Given the description of an element on the screen output the (x, y) to click on. 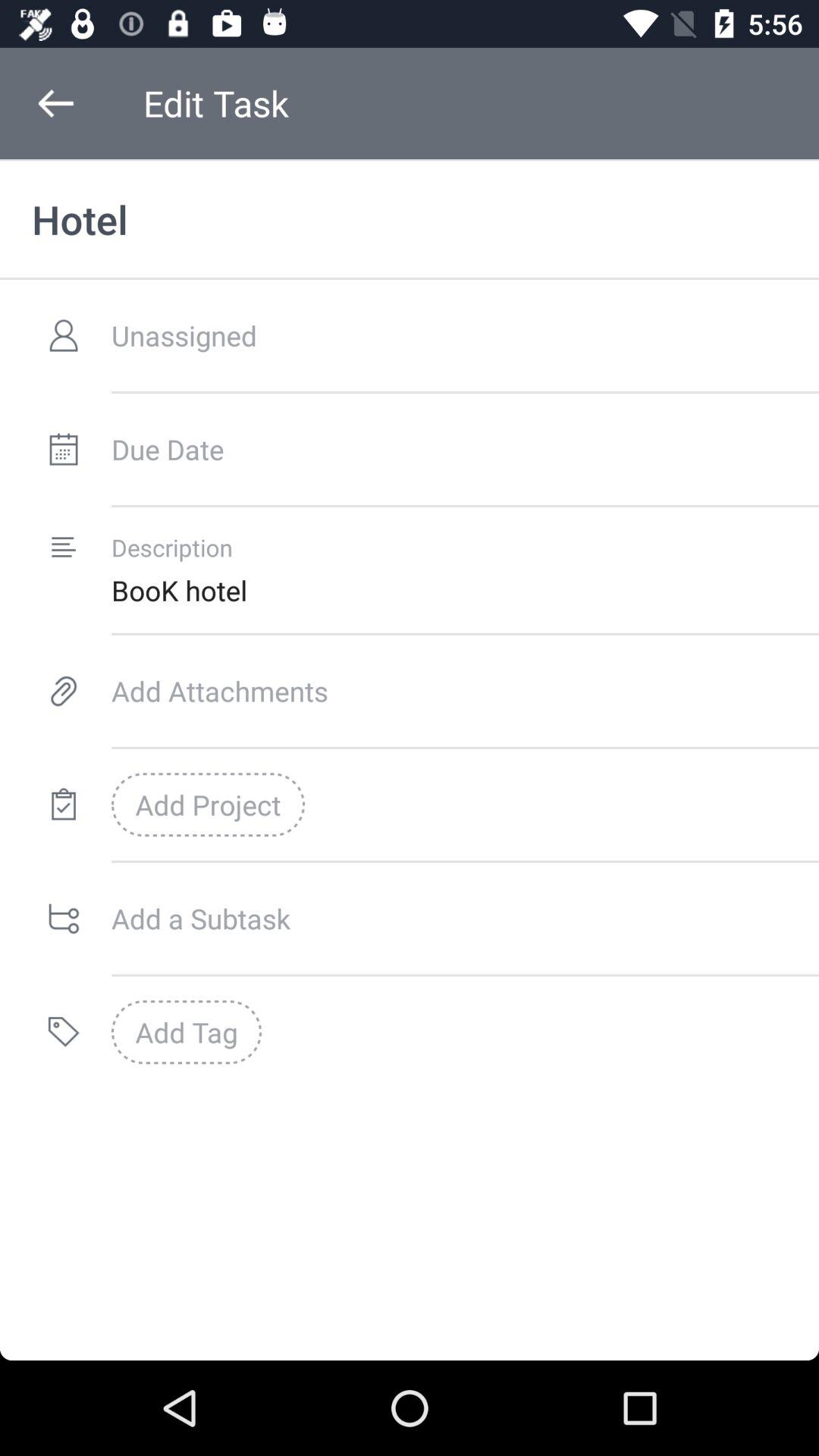
turn off the book hotel (465, 590)
